Given the description of an element on the screen output the (x, y) to click on. 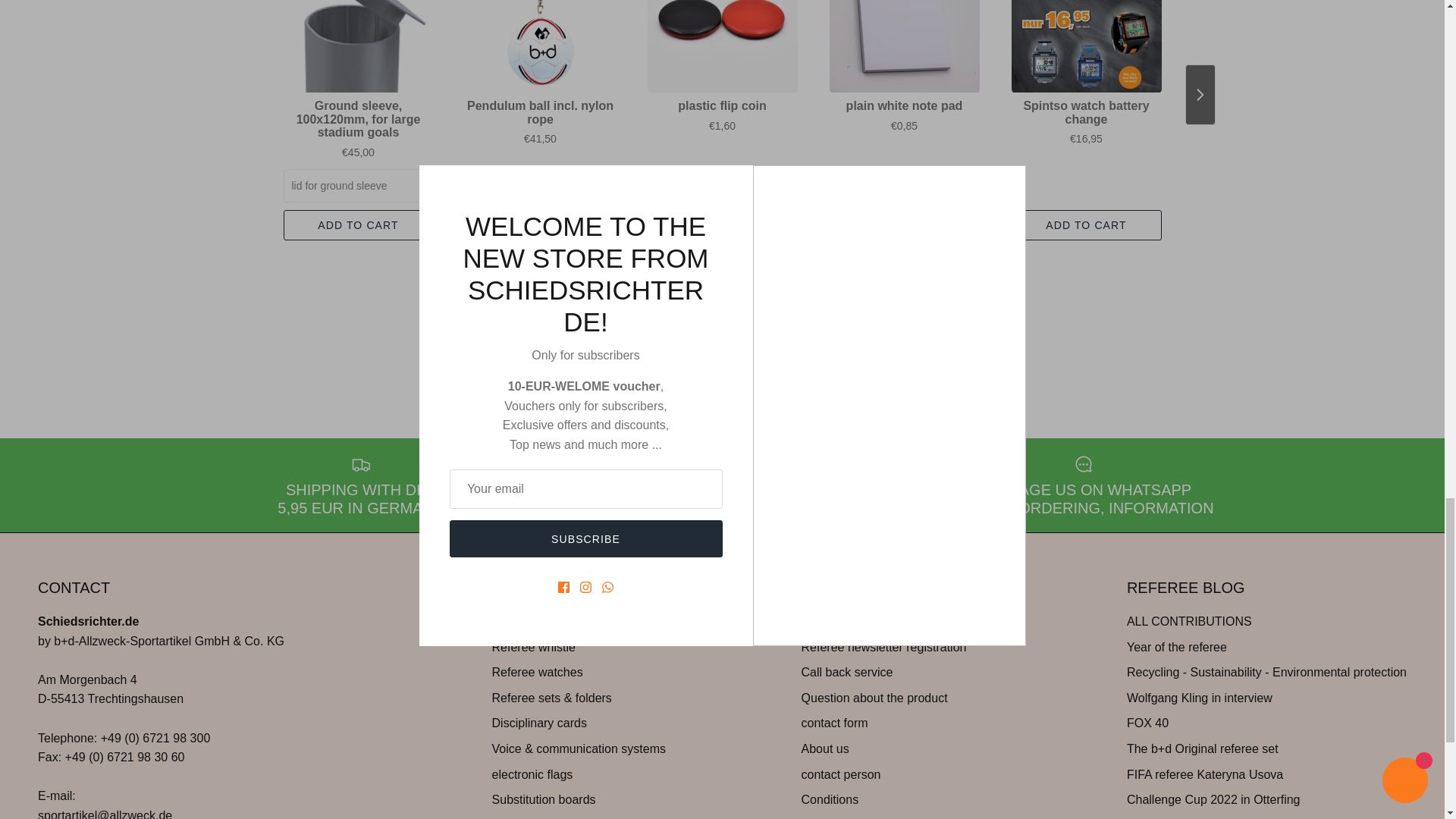
Pendulum ball incl. nylon rope (540, 46)
plain white note pad (904, 46)
Spintso watch battery change (1086, 46)
Ground sleeve, 100x120mm, for large stadium goals (358, 46)
plastic flip coin (722, 46)
